Given the description of an element on the screen output the (x, y) to click on. 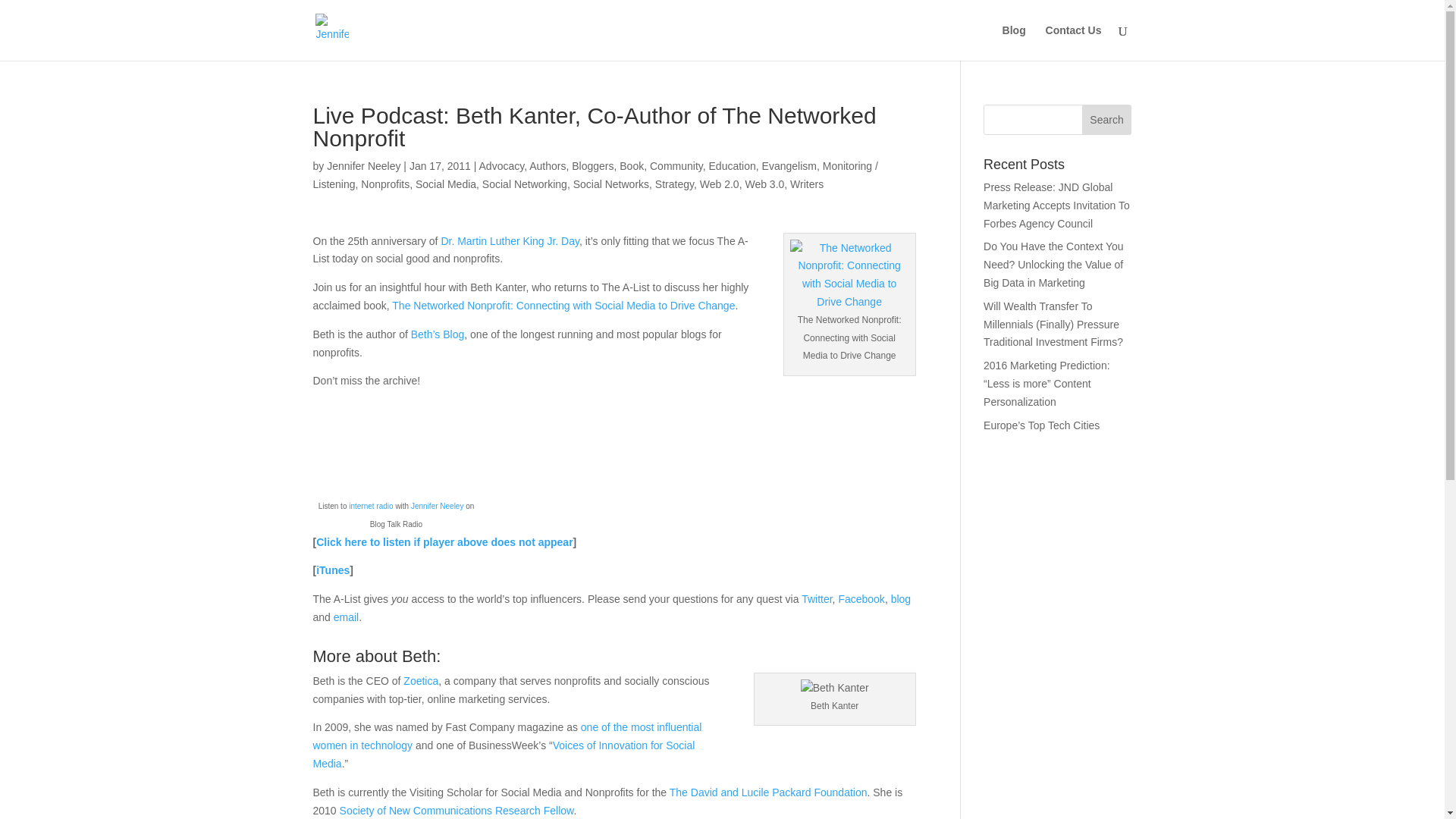
Community (676, 165)
Education (732, 165)
Contact Us (1073, 42)
Web 2.0 (719, 184)
Click here to listen if player above does not appear (443, 541)
Writers (807, 184)
Beth Kanter (834, 688)
Instagram (1103, 763)
email (345, 616)
Evangelism (788, 165)
